Given the description of an element on the screen output the (x, y) to click on. 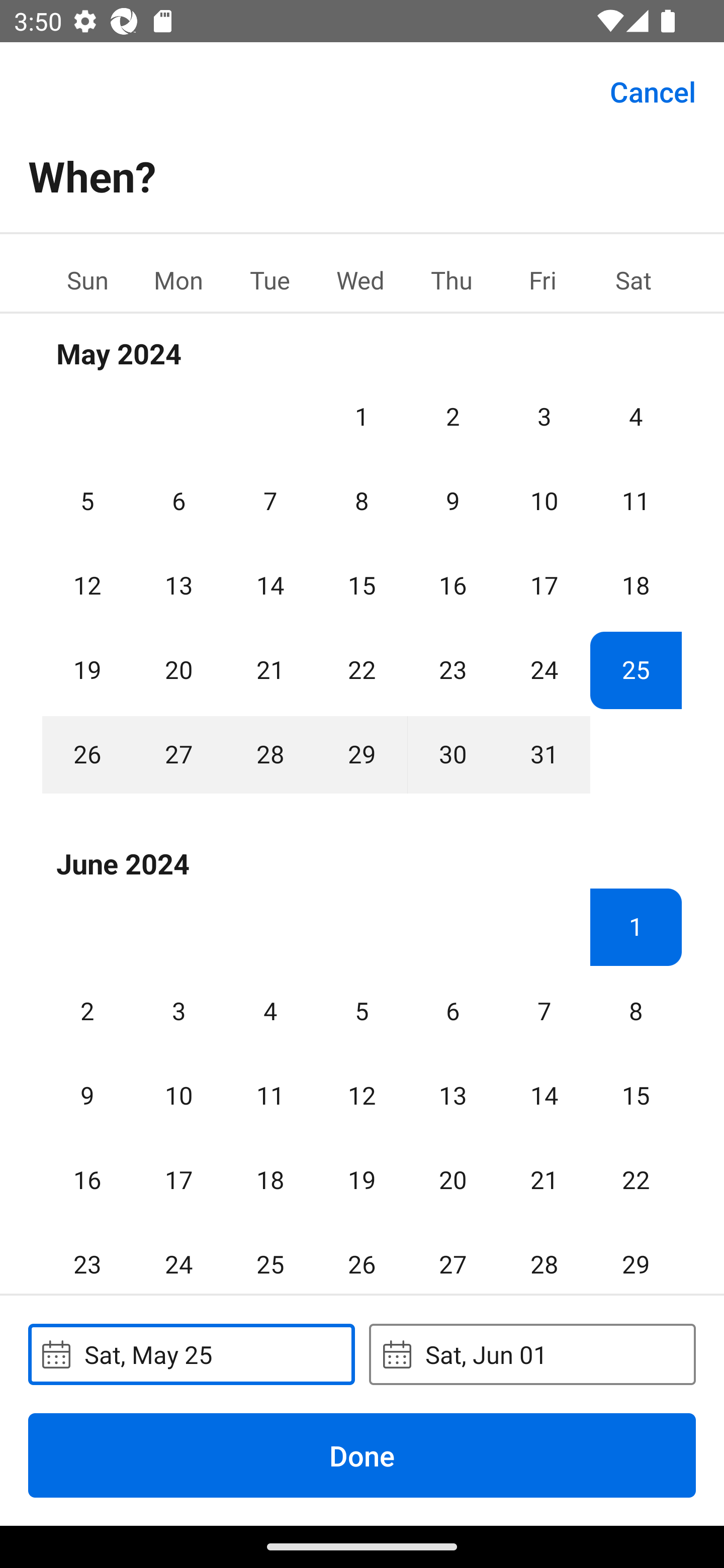
Cancel (652, 90)
Sat, May 25 (191, 1353)
Sat, Jun 01 (532, 1353)
Done (361, 1454)
